Given the description of an element on the screen output the (x, y) to click on. 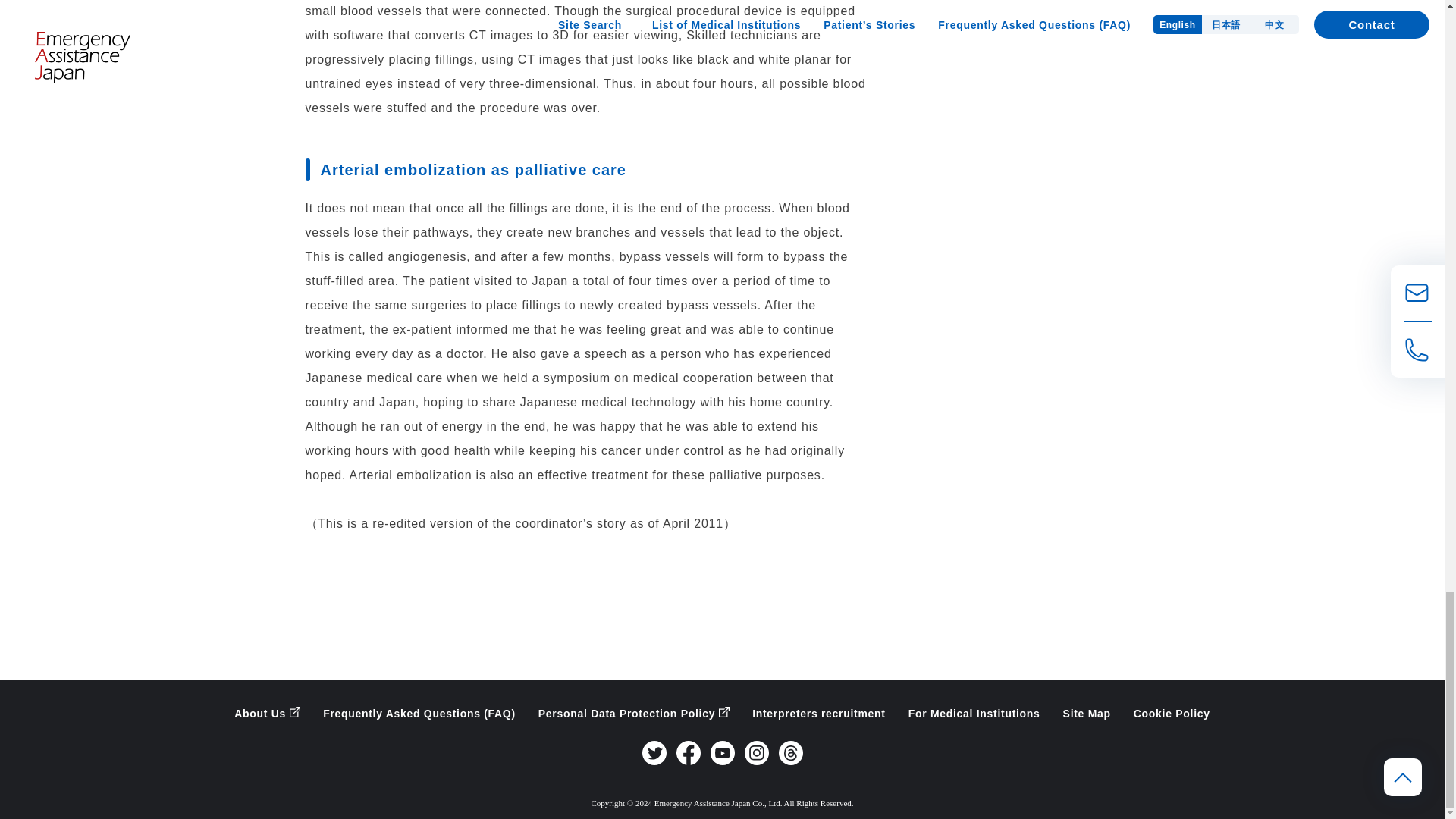
Site Map (1086, 713)
About Us (266, 713)
For Medical Institutions (974, 713)
Personal Data Protection Policy (633, 713)
Interpreters recruitment (818, 713)
Cookie Policy (1171, 713)
